Given the description of an element on the screen output the (x, y) to click on. 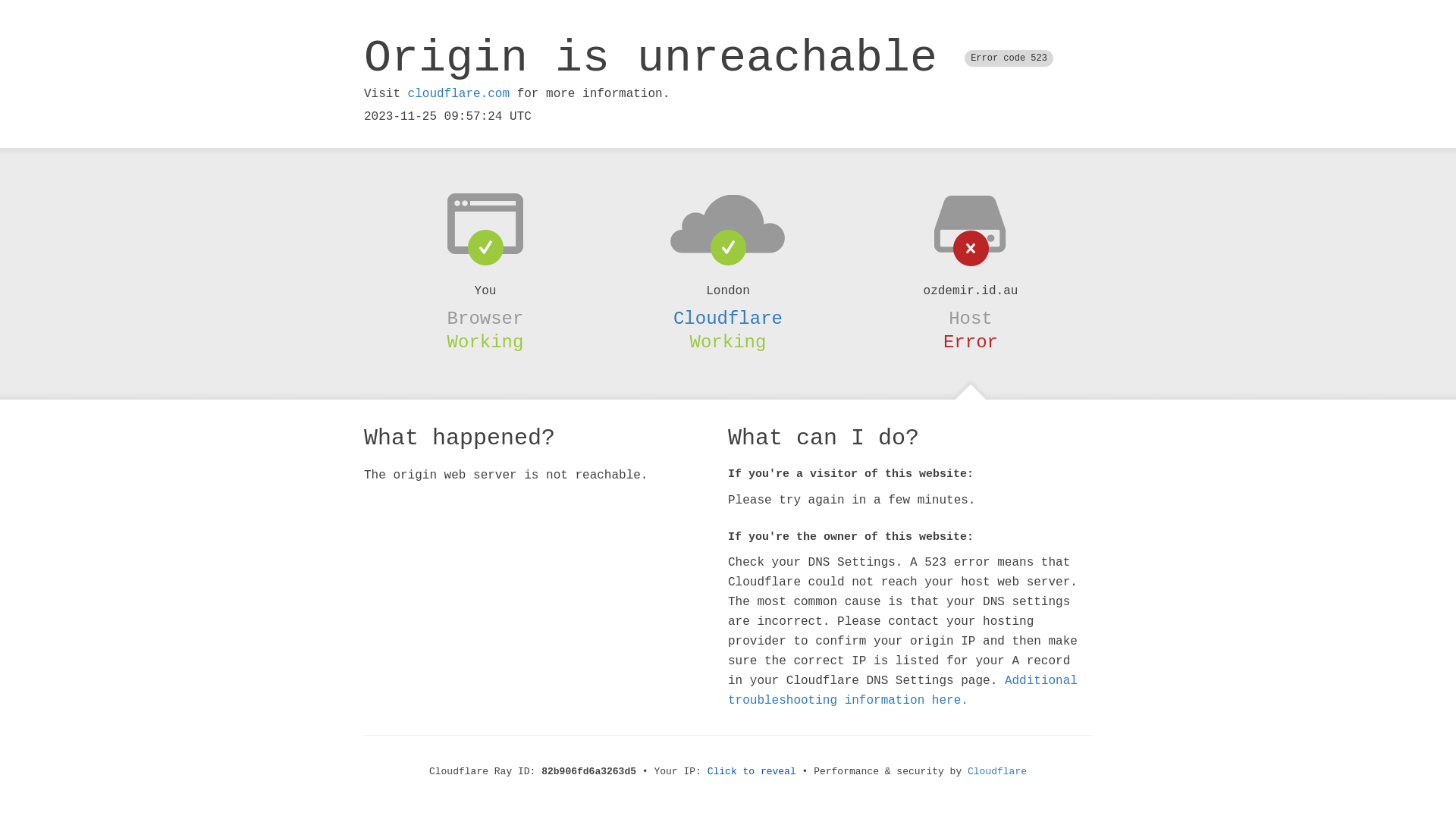
Cloudflare Element type: text (727, 318)
Click to reveal Element type: text (751, 771)
Additional troubleshooting information here. Element type: text (902, 690)
cloudflare.com Element type: text (458, 93)
Cloudflare Element type: text (996, 771)
